Given the description of an element on the screen output the (x, y) to click on. 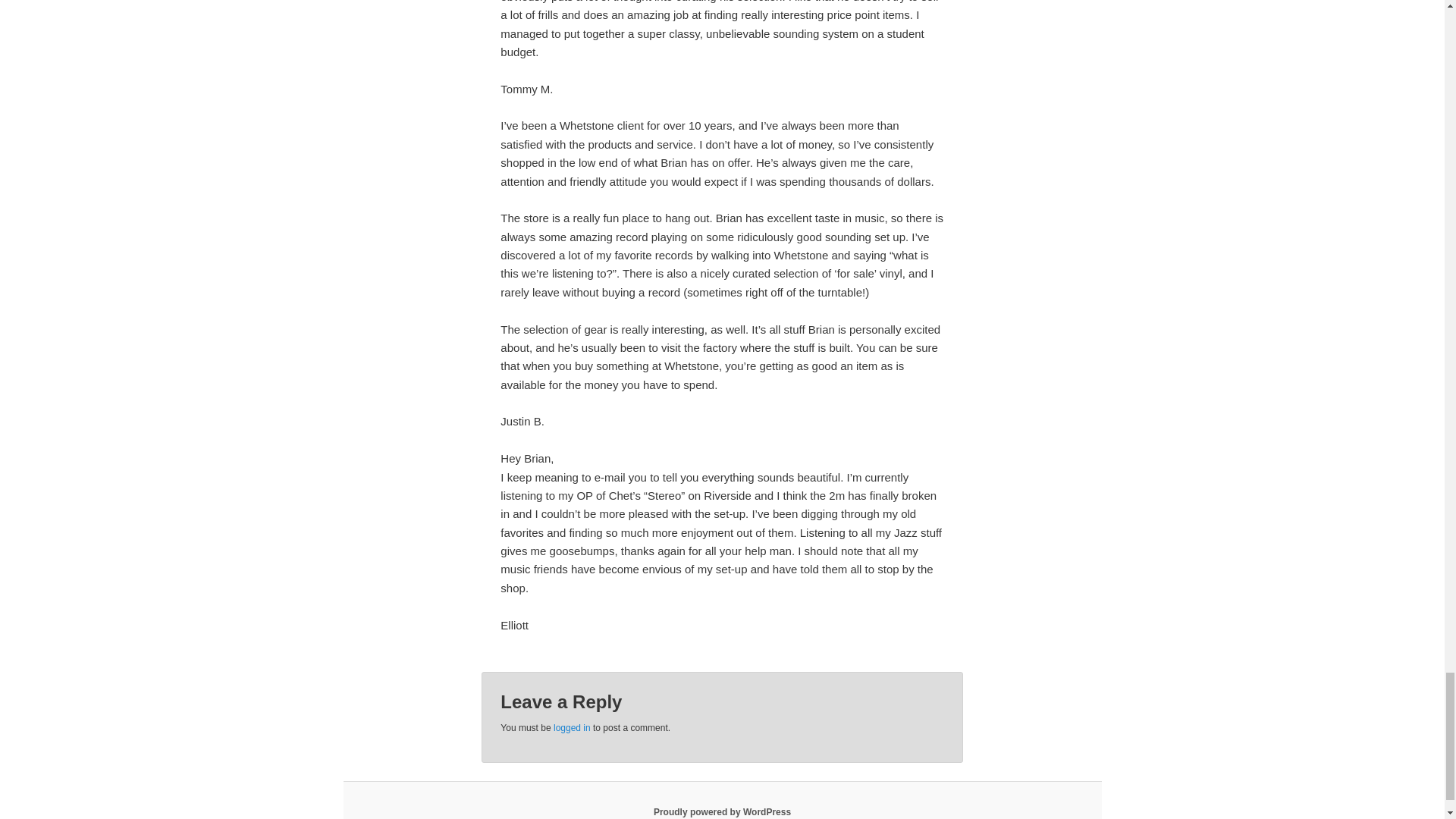
Proudly powered by WordPress (721, 811)
Semantic Personal Publishing Platform (721, 811)
logged in (572, 727)
